Given the description of an element on the screen output the (x, y) to click on. 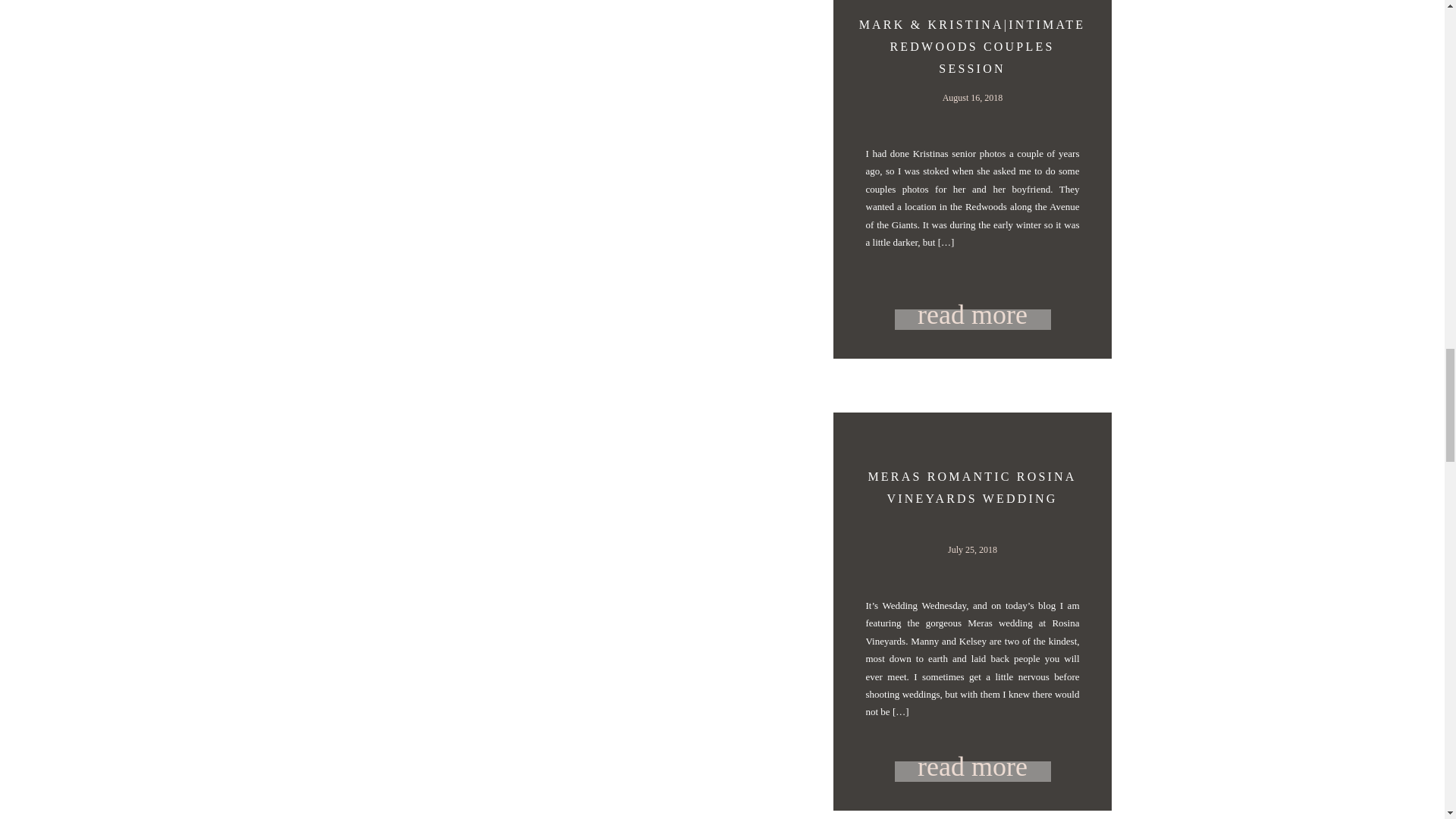
Meras Romantic Rosina Vineyards Wedding (973, 771)
Meras Romantic Rosina Vineyards Wedding (973, 764)
read more (973, 312)
MERAS ROMANTIC ROSINA VINEYARDS WEDDING (971, 487)
read more (973, 764)
